Given the description of an element on the screen output the (x, y) to click on. 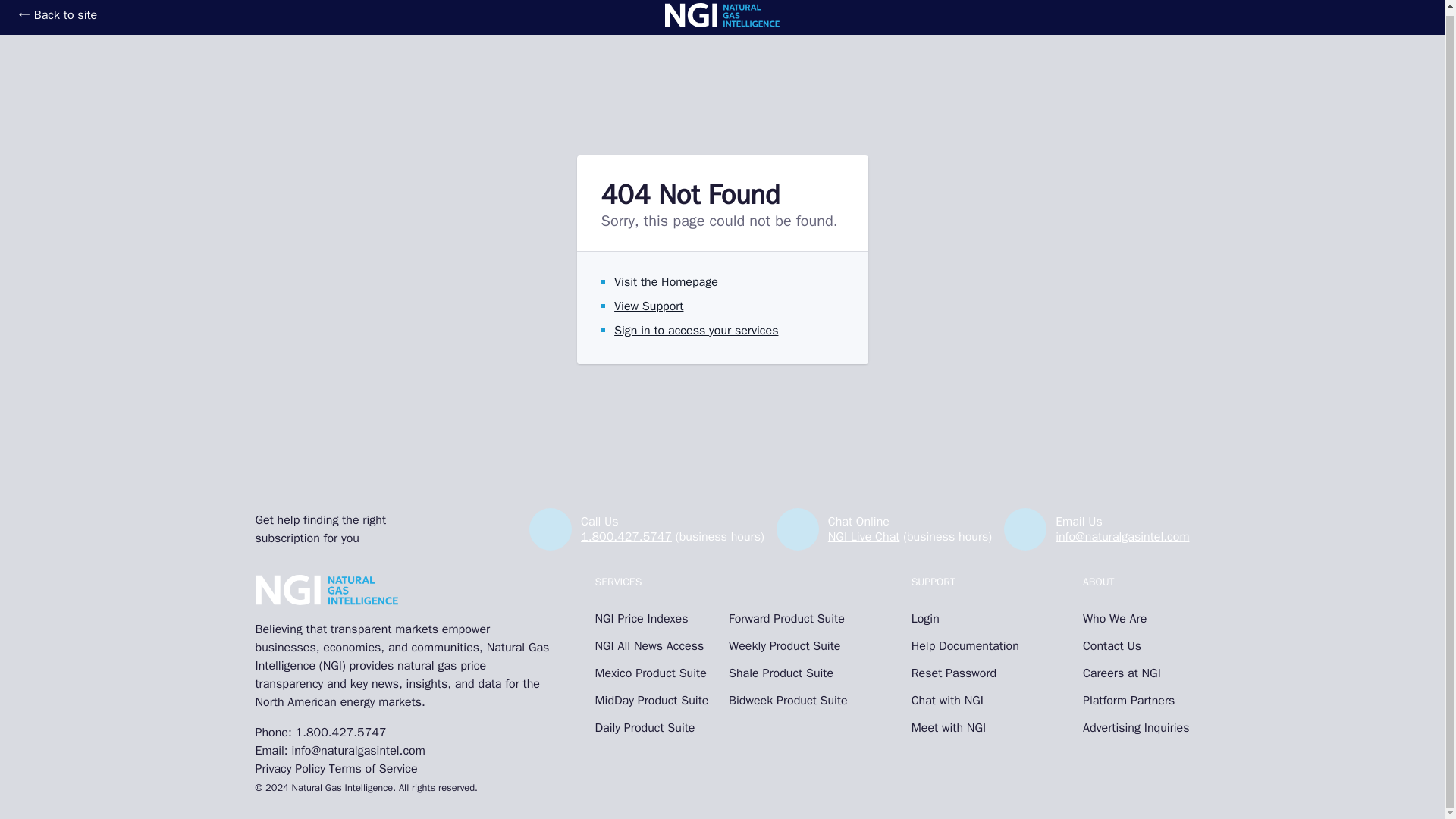
1.800.427.5747 (625, 536)
Bidweek Product Suite (788, 700)
Chat with NGI (965, 700)
Weekly Product Suite (788, 646)
Sign in to access your services (695, 330)
NGI All News Access (653, 646)
Forward Product Suite (788, 618)
MidDay Product Suite (653, 700)
NGI Price Indexes (653, 618)
Help Documentation (965, 646)
